Given the description of an element on the screen output the (x, y) to click on. 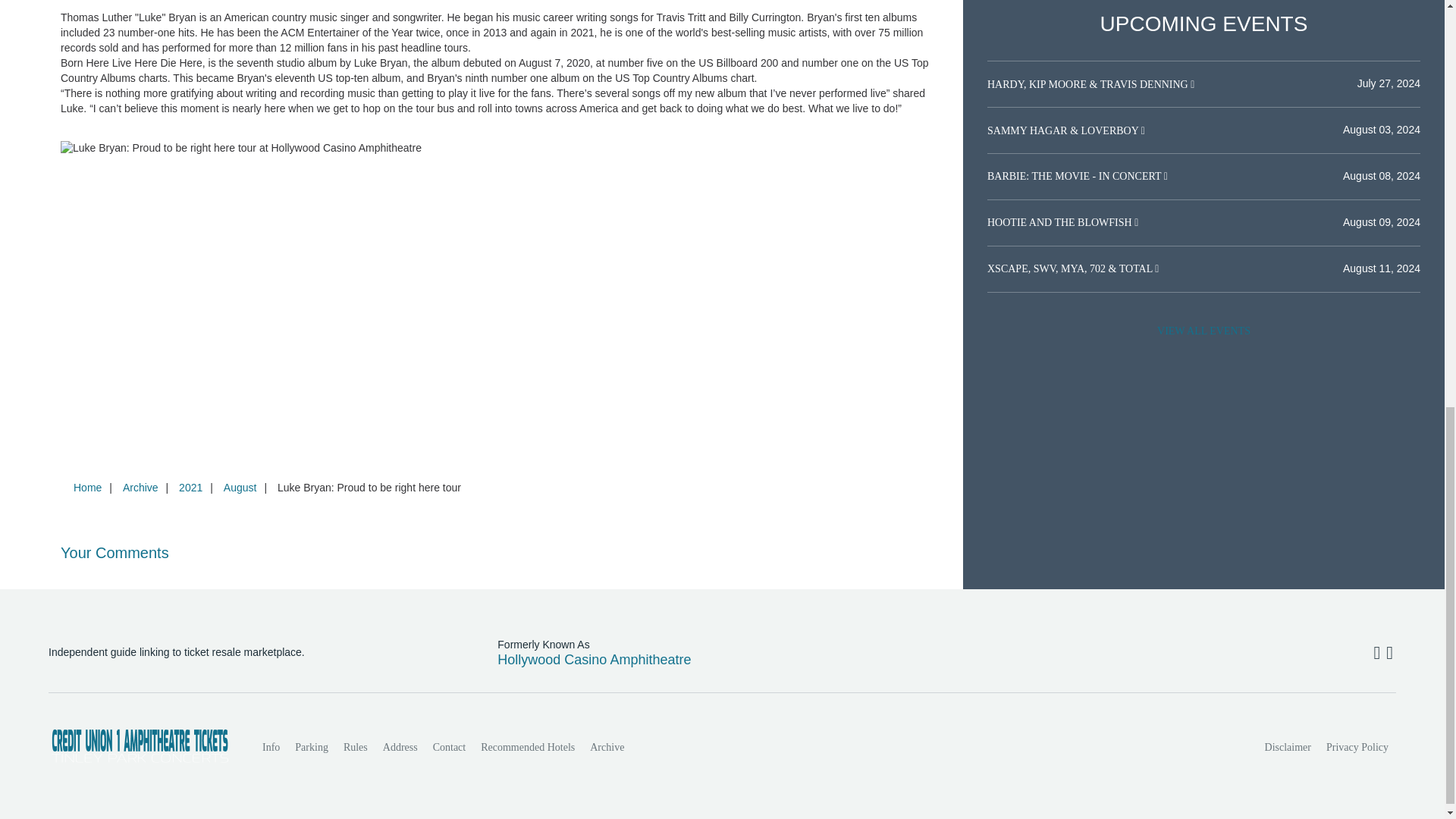
Parking (311, 747)
Home (87, 487)
VIEW ALL EVENTS (1203, 330)
HOOTIE AND THE BLOWFISH (1060, 222)
Address (400, 747)
Archive (606, 747)
Info (270, 747)
Recommended Hotels (527, 747)
BARBIE: THE MOVIE - IN CONCERT (1075, 175)
2021 (190, 487)
Privacy Policy (1357, 747)
Contact (449, 747)
Archive (140, 487)
Rules (355, 747)
